Given the description of an element on the screen output the (x, y) to click on. 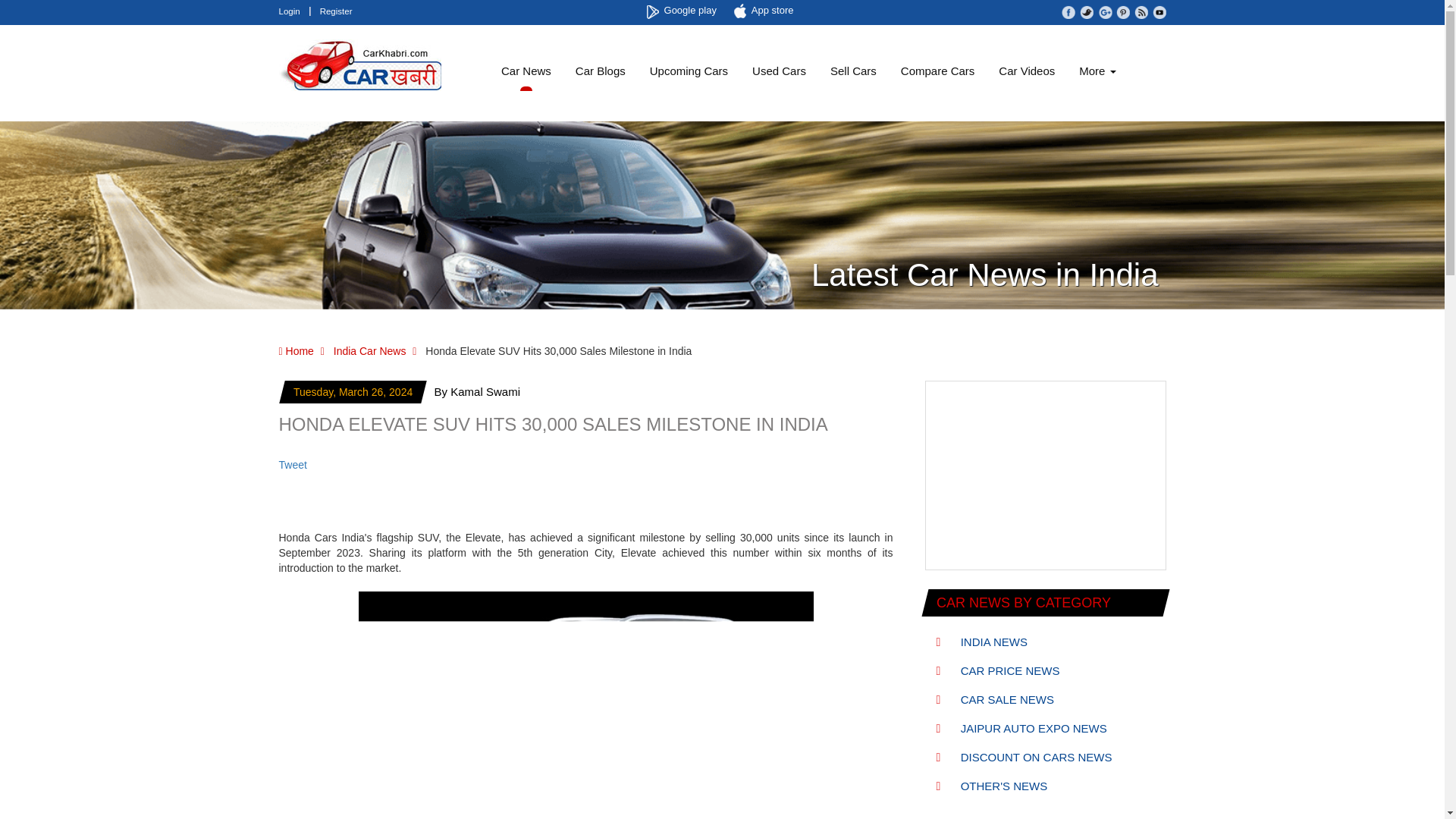
Used Cars (778, 70)
Car Sale News (995, 699)
Jaipur Auto Expo News (1021, 728)
Car Price News (997, 670)
Honda Elevate Front Low View (585, 705)
Sell Cars (853, 70)
Advertisement (1045, 475)
Google play (683, 10)
Other's News (991, 785)
Car Videos (1027, 70)
